Given the description of an element on the screen output the (x, y) to click on. 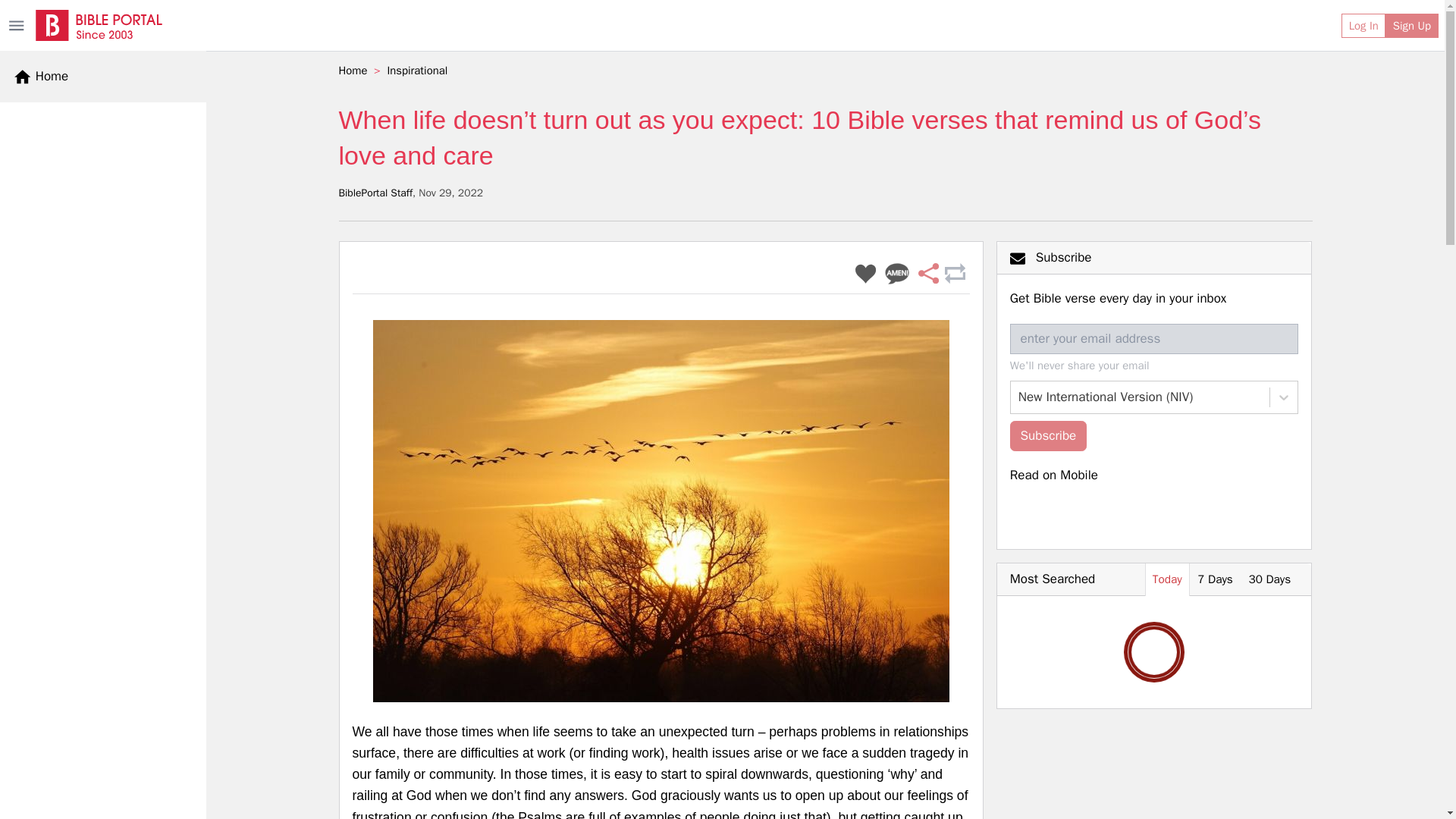
Like (865, 273)
Amen (897, 273)
Sign Up (1412, 25)
Home (40, 76)
Repost (954, 273)
Log In (1363, 25)
